Given the description of an element on the screen output the (x, y) to click on. 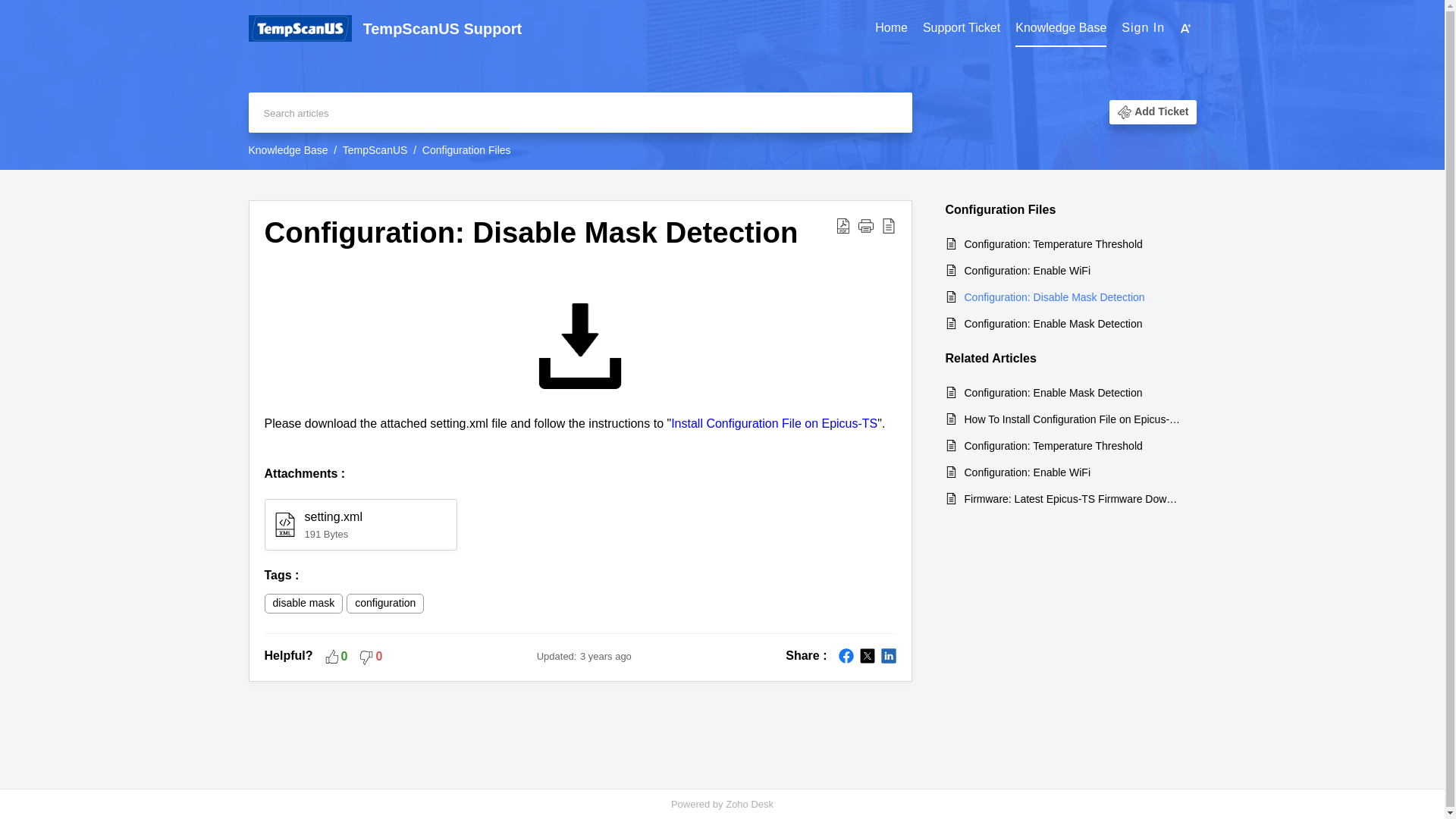
Zoho Desk (749, 803)
Support Ticket (961, 27)
Twitter (867, 655)
25 Sep 2020 05:51 AM (605, 655)
Add Ticket (1161, 111)
Home (891, 27)
Configuration: Enable WiFi (1071, 270)
Configuration: Enable Mask Detection (1071, 323)
configuration (385, 603)
Knowledge Base (1060, 27)
Configuration: Enable Mask Detection (1071, 392)
Install Configuration File on Epicus-TS (774, 422)
TempScanUS Support (614, 28)
Configuration: Temperature Threshold (1071, 243)
Knowledge Base (1060, 28)
